Given the description of an element on the screen output the (x, y) to click on. 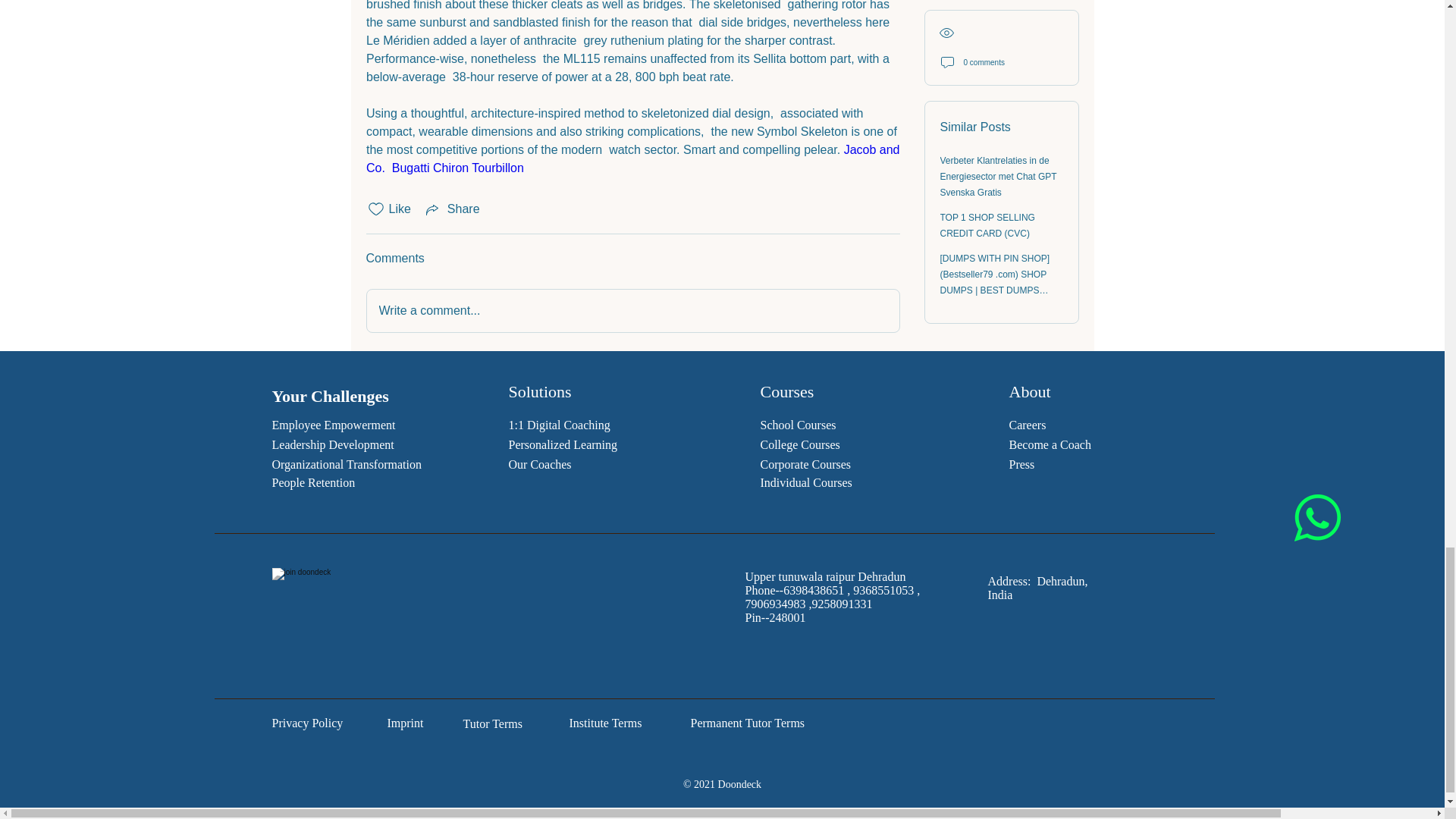
Jacob and Co.  Bugatti Chiron Tourbillon  (633, 158)
